Given the description of an element on the screen output the (x, y) to click on. 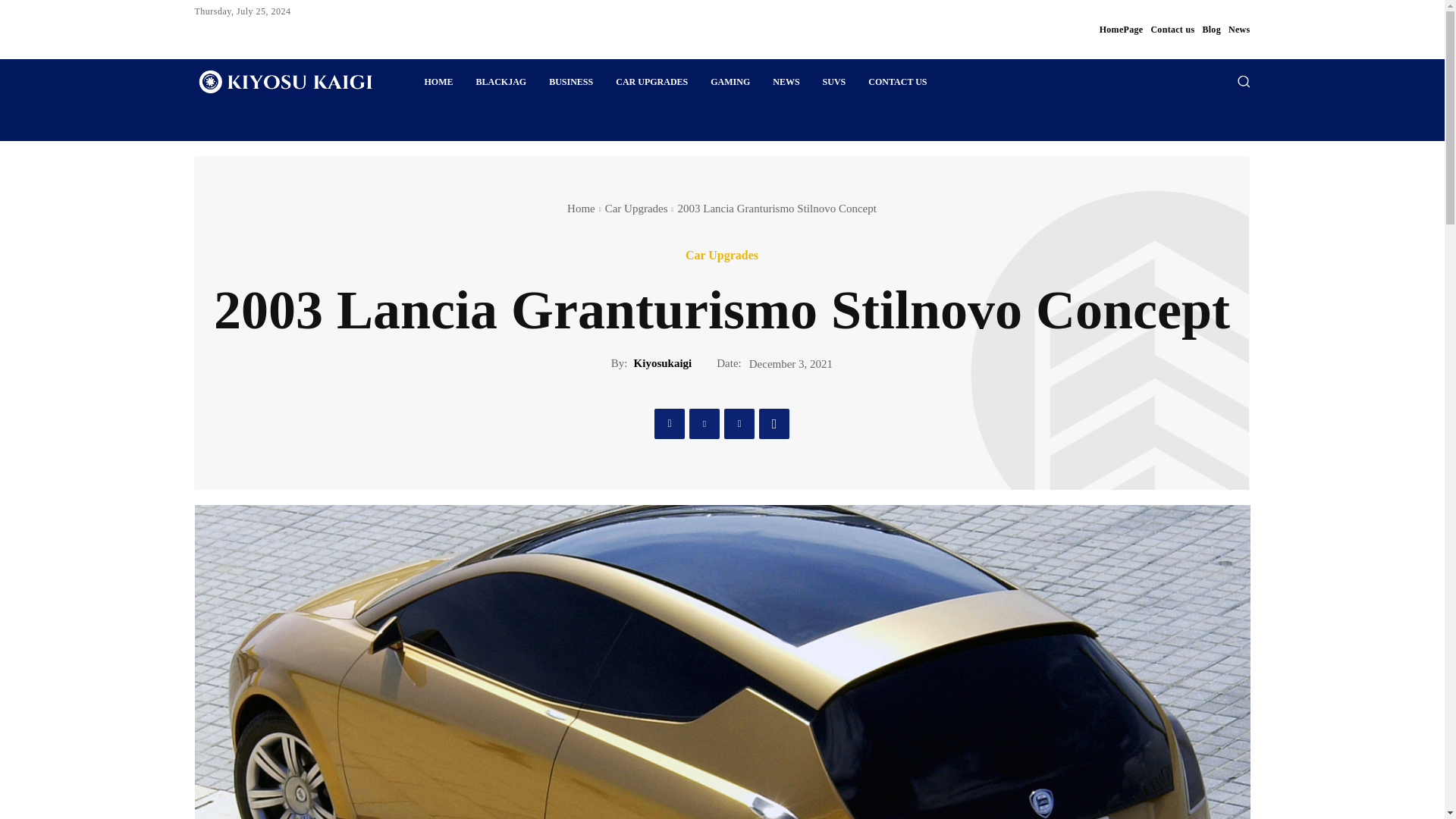
Contact us (1171, 29)
CONTACT US (897, 81)
View all posts in Car Upgrades (636, 208)
Home (581, 208)
WhatsApp (773, 423)
Twitter (703, 423)
HOME (438, 81)
NEWS (785, 81)
News (1239, 29)
BUSINESS (570, 81)
BLACKJAG (500, 81)
CAR UPGRADES (651, 81)
GAMING (729, 81)
Facebook (668, 423)
Pinterest (738, 423)
